Given the description of an element on the screen output the (x, y) to click on. 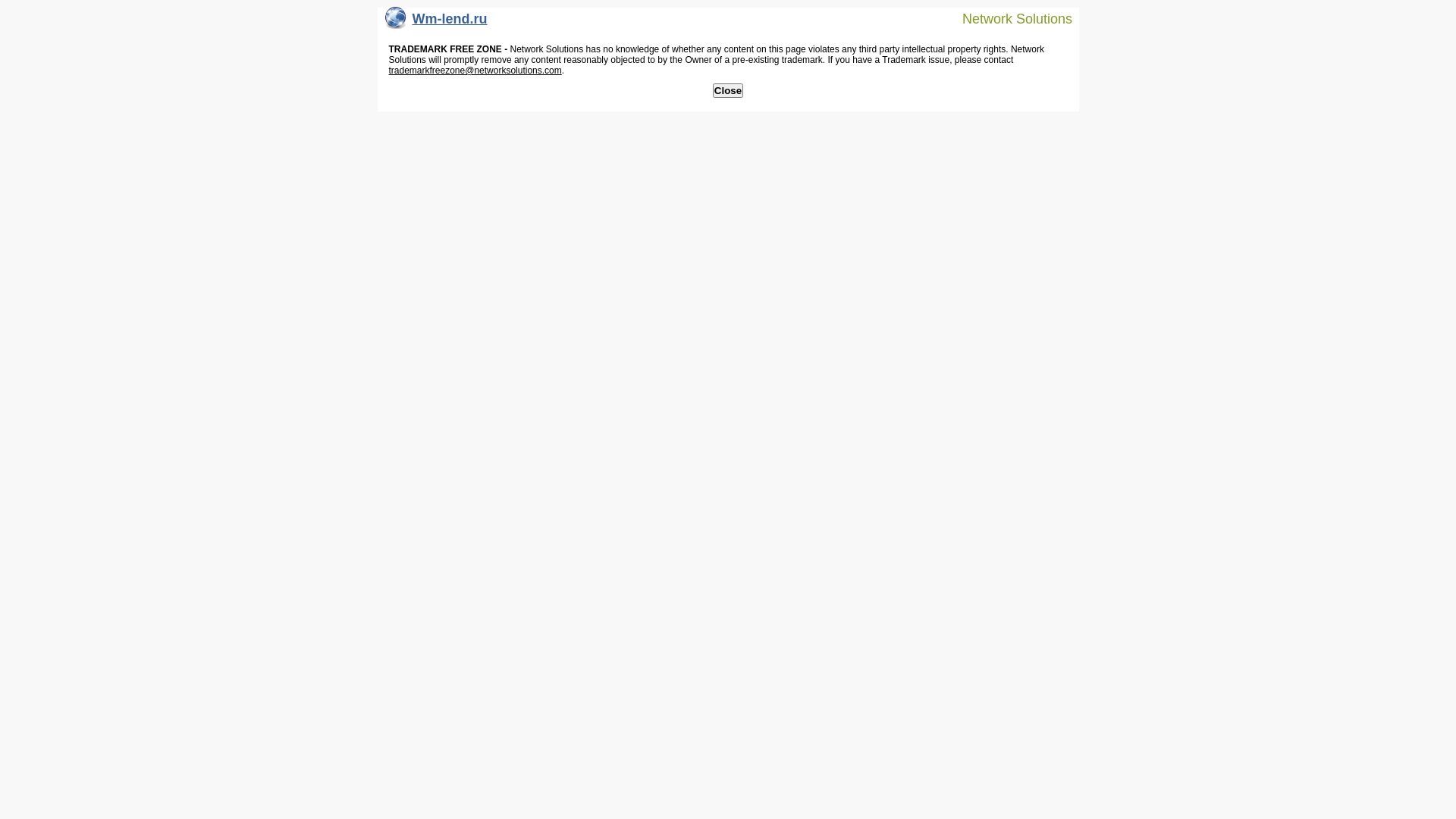
Close Element type: text (727, 90)
Network Solutions Element type: text (1007, 17)
trademarkfreezone@networksolutions.com Element type: text (474, 70)
Wm-lend.ru Element type: text (436, 21)
